Given the description of an element on the screen output the (x, y) to click on. 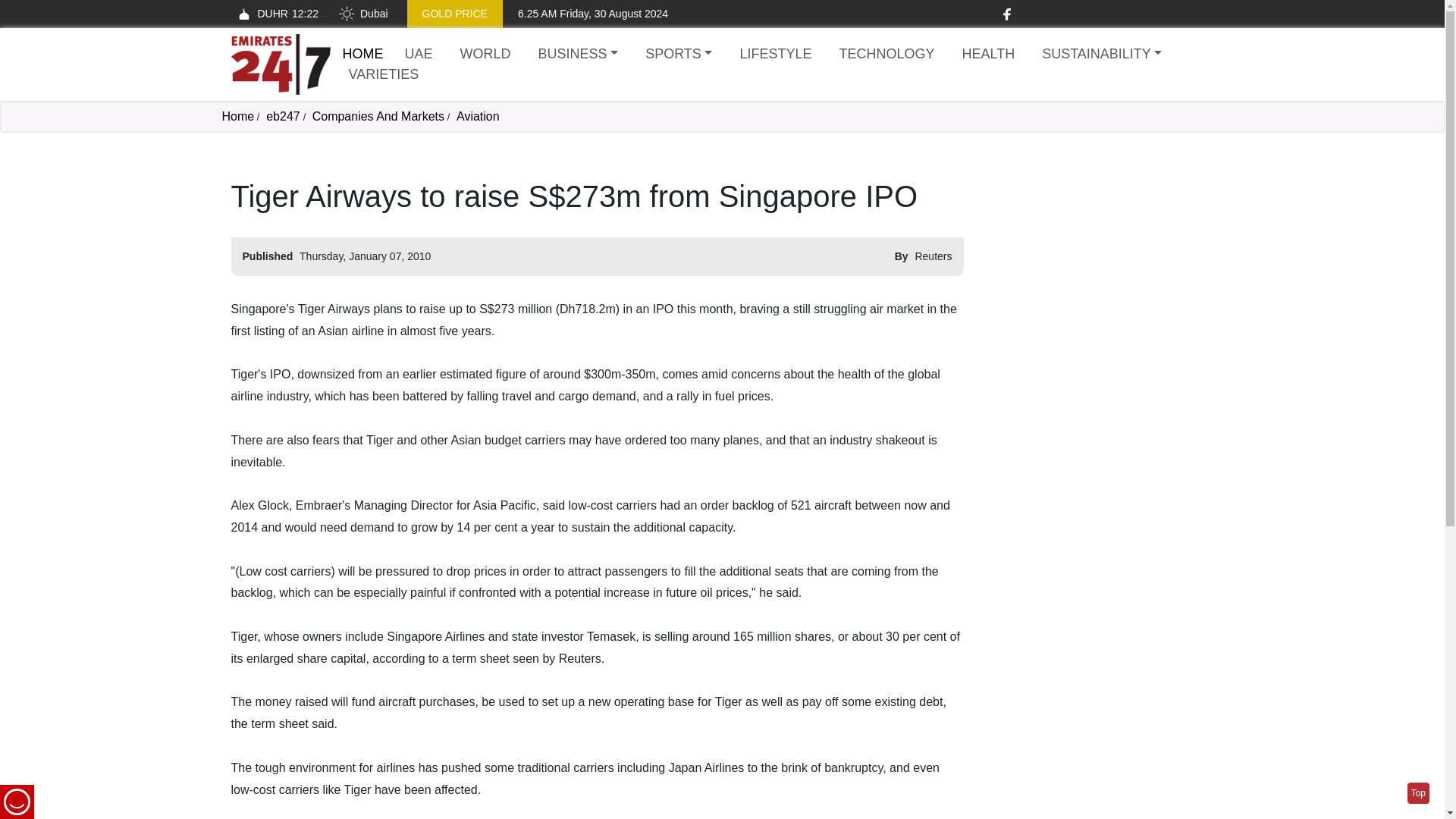
HOME (363, 53)
Home (280, 64)
UAE (418, 54)
WORLD (485, 54)
TECHNOLOGY (886, 54)
VARIETIES (383, 74)
Home (363, 53)
SPORTS (678, 54)
eb247 (282, 115)
HEALTH (987, 54)
